Given the description of an element on the screen output the (x, y) to click on. 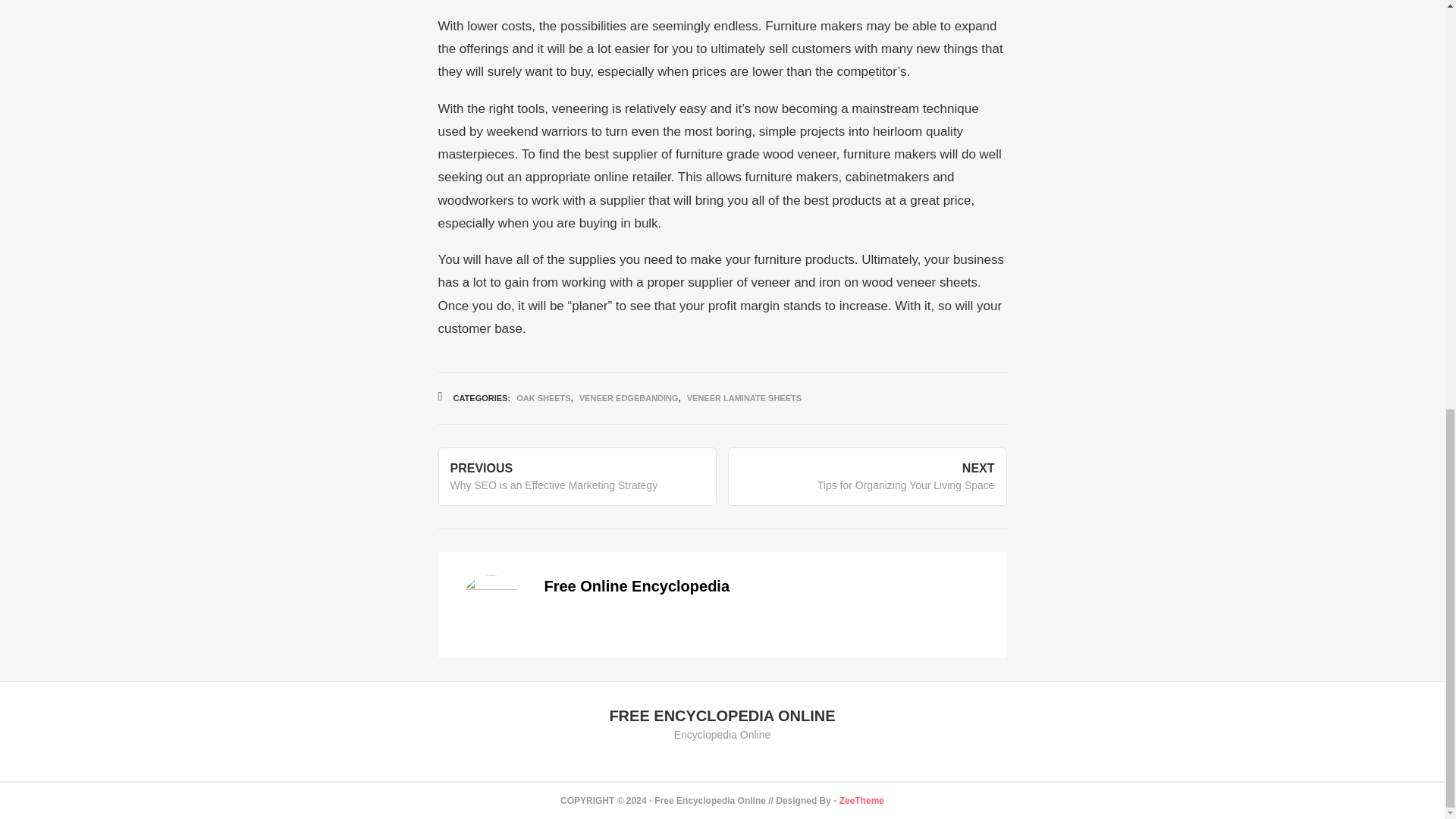
VENEER LAMINATE SHEETS (744, 397)
Free Online Encyclopedia (637, 585)
Posts by Free Online Encyclopedia (637, 585)
VENEER EDGEBANDING (628, 397)
FREE ENCYCLOPEDIA ONLINE (721, 715)
ZeeTheme (861, 800)
OAK SHEETS (543, 397)
